Given the description of an element on the screen output the (x, y) to click on. 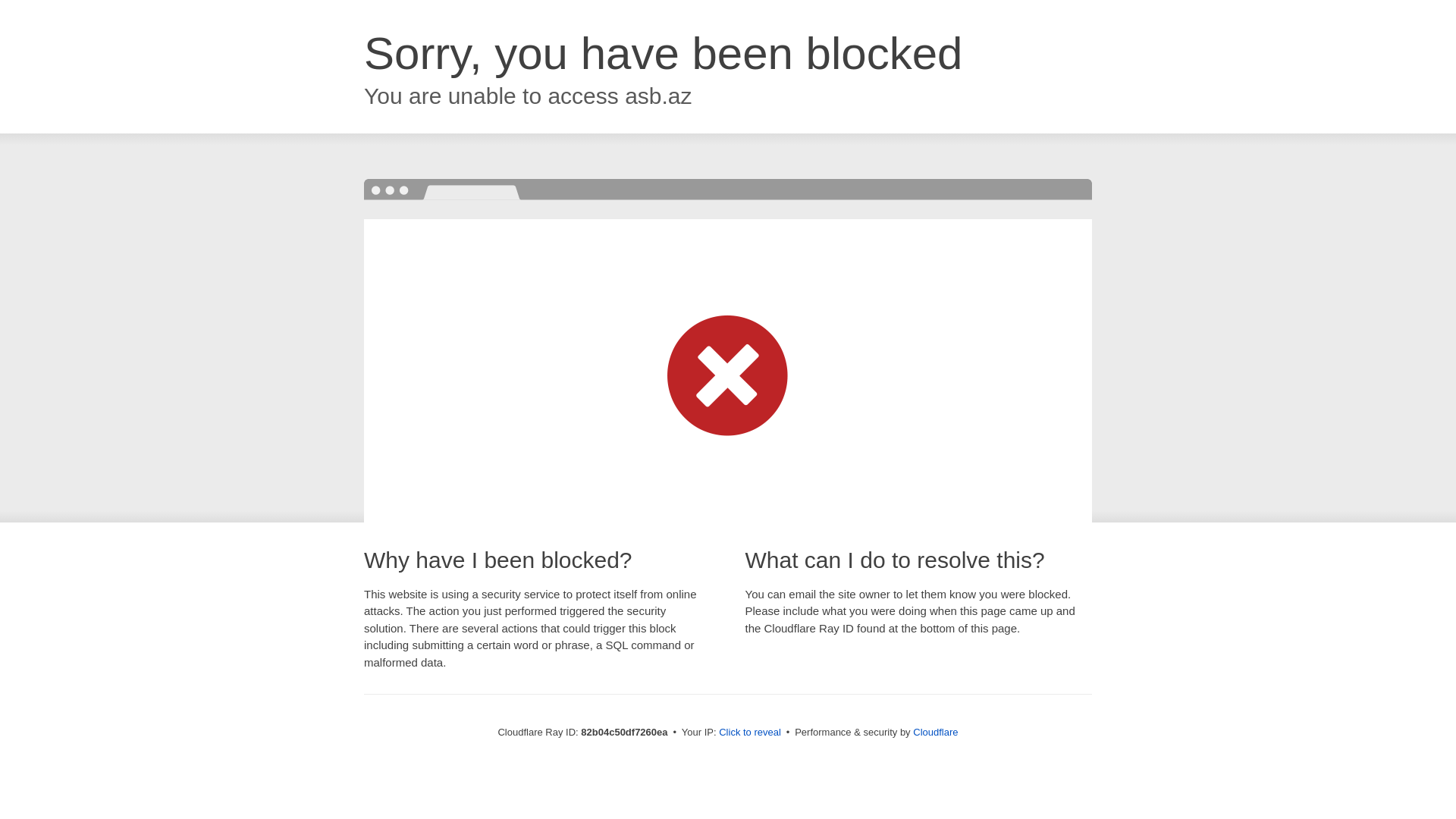
Click to reveal Element type: text (749, 732)
Cloudflare Element type: text (935, 731)
